Given the description of an element on the screen output the (x, y) to click on. 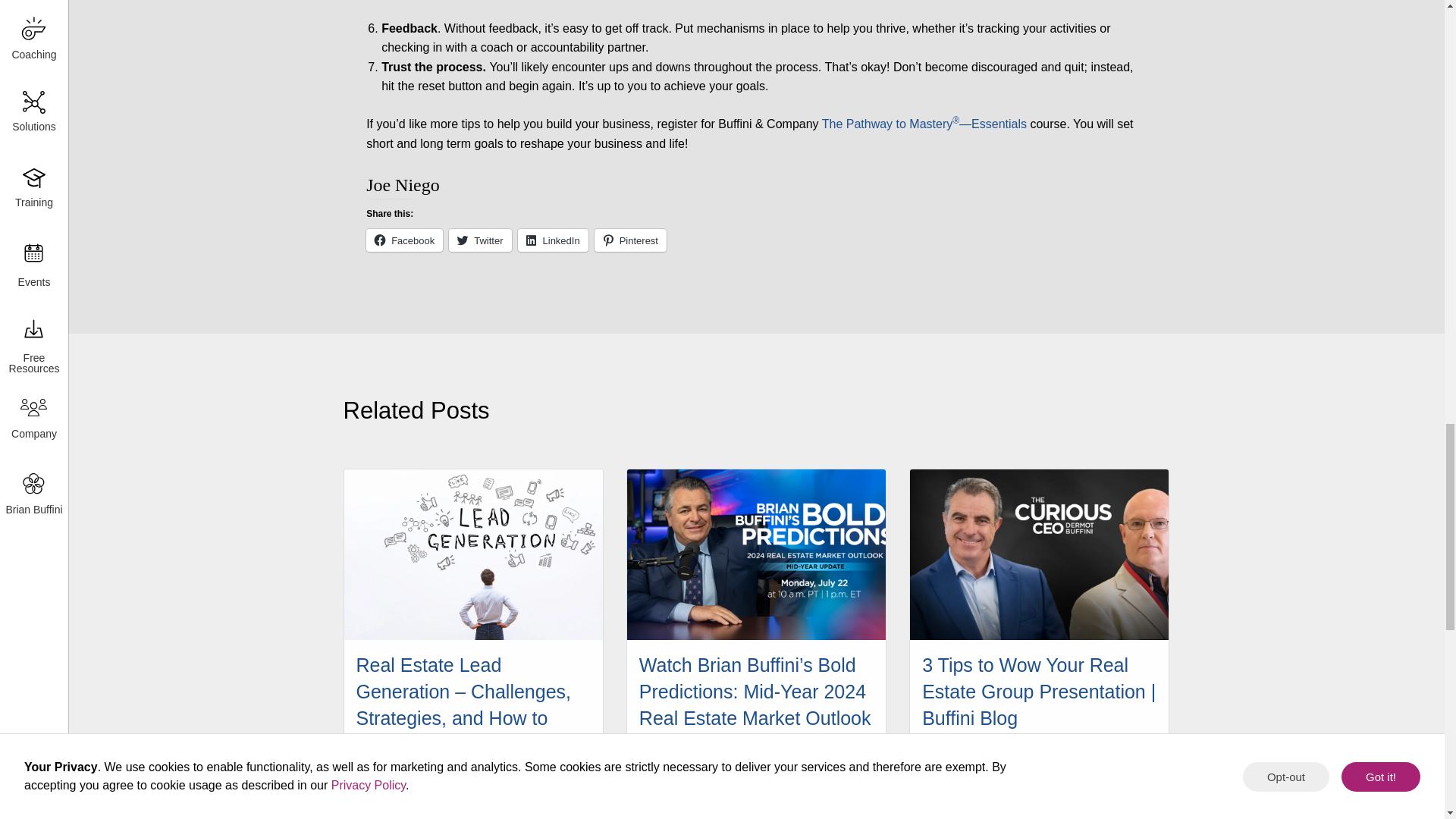
Click to share on Pinterest (630, 240)
Click to share on Facebook (404, 240)
Click to share on Twitter (479, 240)
Click to share on LinkedIn (553, 240)
